Given the description of an element on the screen output the (x, y) to click on. 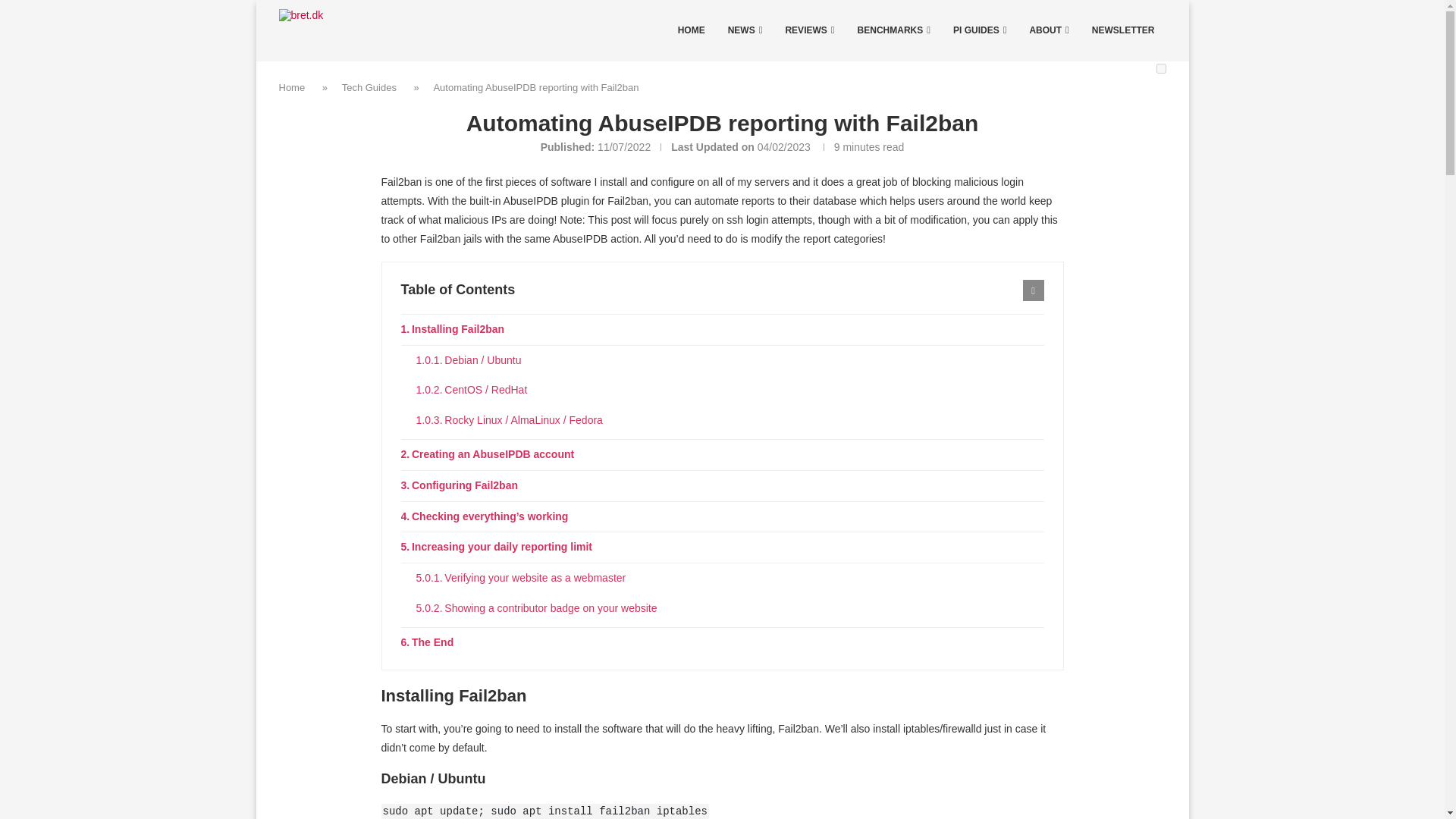
REVIEWS (809, 30)
PI GUIDES (979, 30)
on (1161, 68)
BENCHMARKS (893, 30)
NEWS (745, 30)
